Given the description of an element on the screen output the (x, y) to click on. 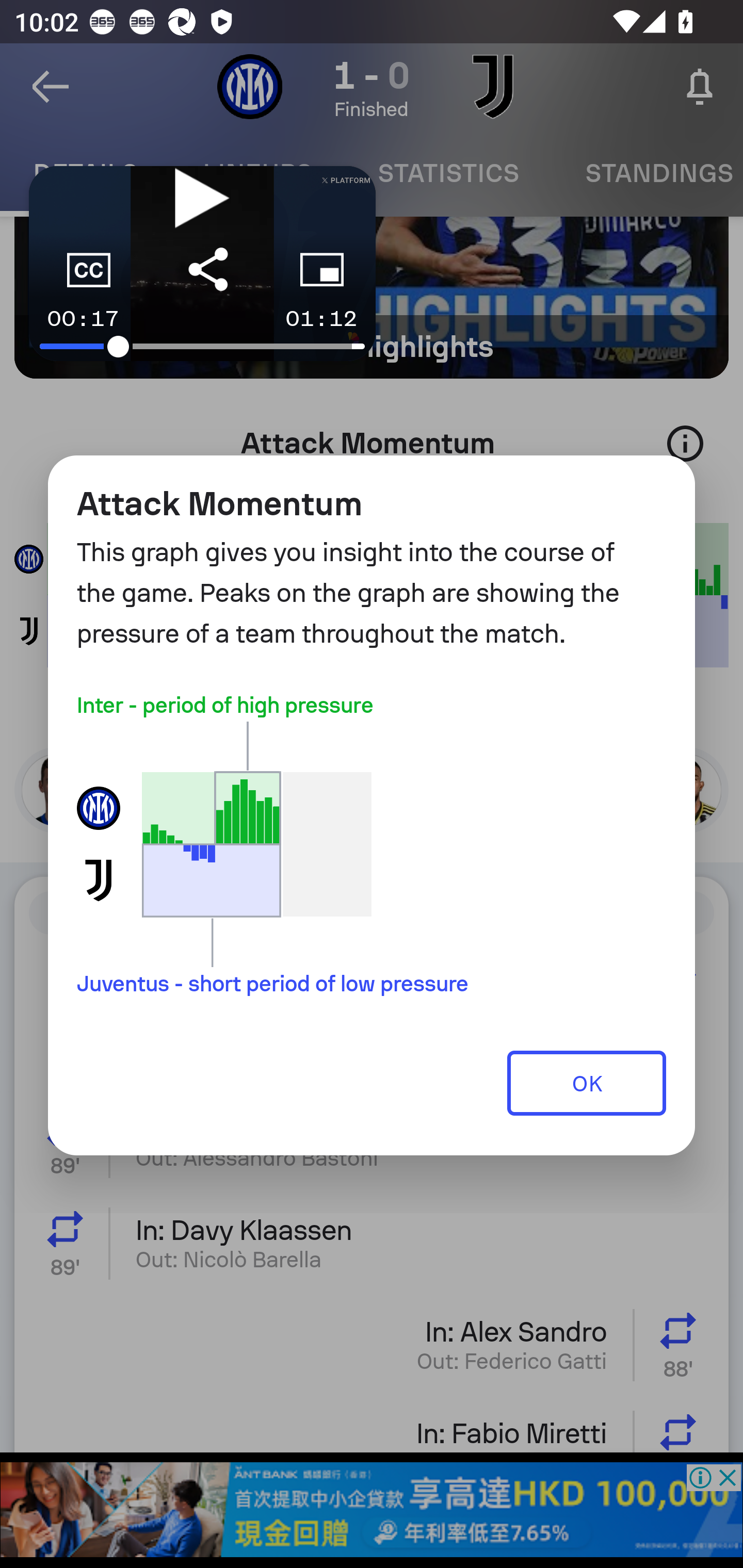
OK (586, 1082)
